Given the description of an element on the screen output the (x, y) to click on. 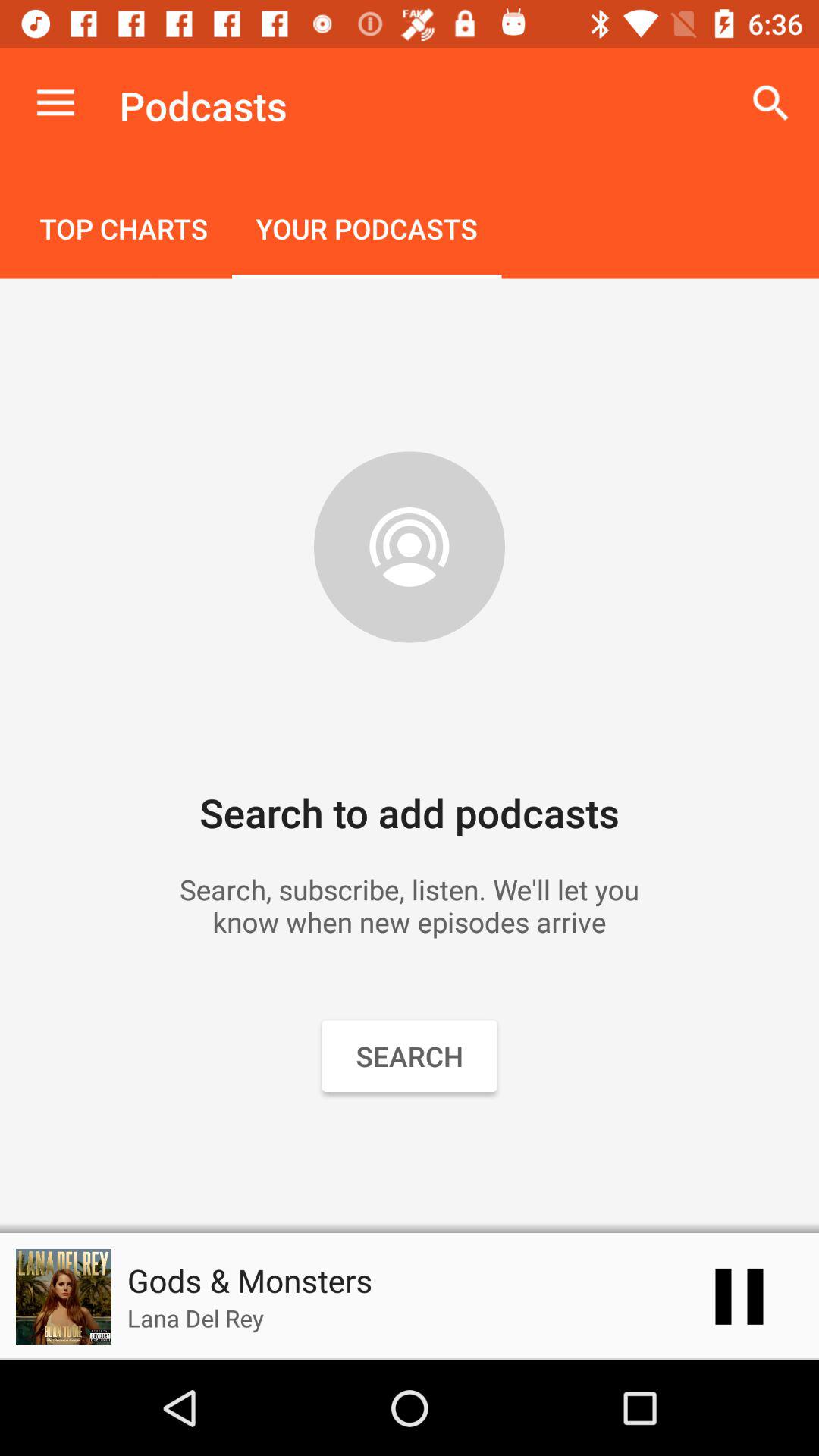
click the icon below the podcasts icon (366, 230)
